Given the description of an element on the screen output the (x, y) to click on. 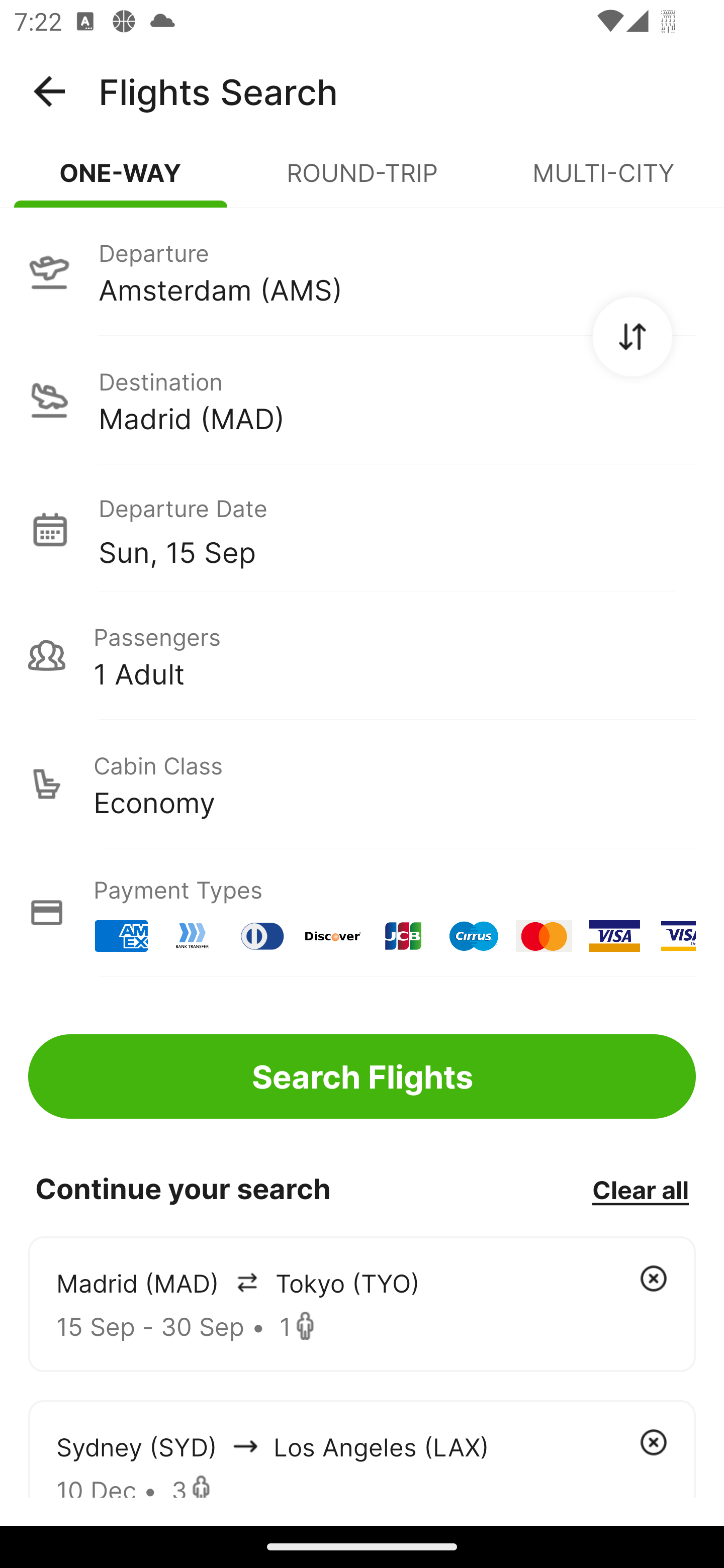
ONE-WAY (120, 180)
ROUND-TRIP (361, 180)
MULTI-CITY (603, 180)
Departure Amsterdam (AMS) (362, 270)
Destination Madrid (MAD) (362, 400)
Departure Date Sun, 15 Sep (396, 528)
Passengers 1 Adult (362, 655)
Cabin Class Economy (362, 783)
Payment Types (362, 912)
Search Flights (361, 1075)
Clear all (640, 1189)
